Given the description of an element on the screen output the (x, y) to click on. 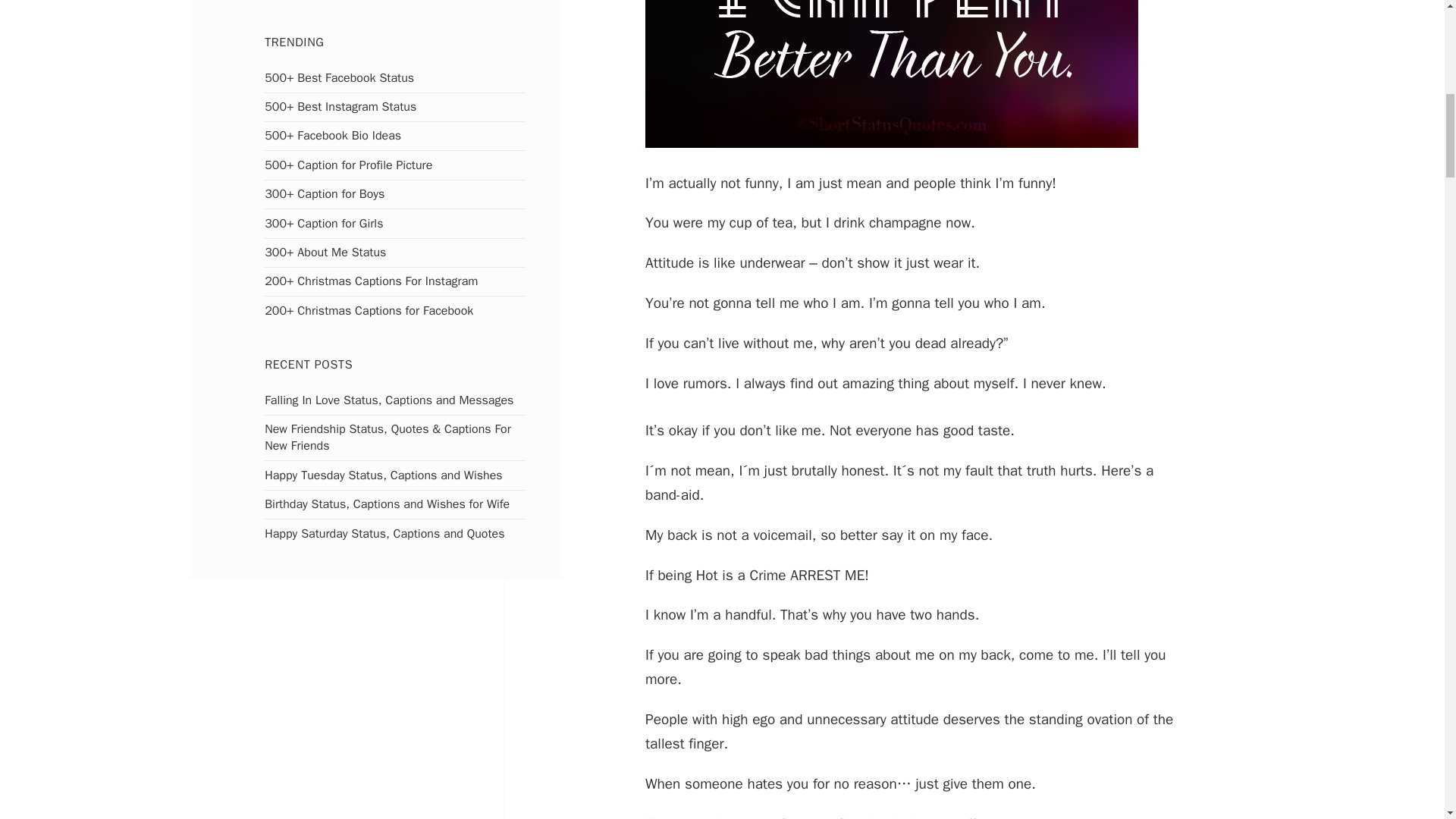
Happy Saturday Status, Captions and Quotes (383, 533)
Birthday Status, Captions and Wishes for Wife (386, 503)
Happy Tuesday Status, Captions and Wishes (383, 475)
Falling In Love Status, Captions and Messages (388, 400)
